Given the description of an element on the screen output the (x, y) to click on. 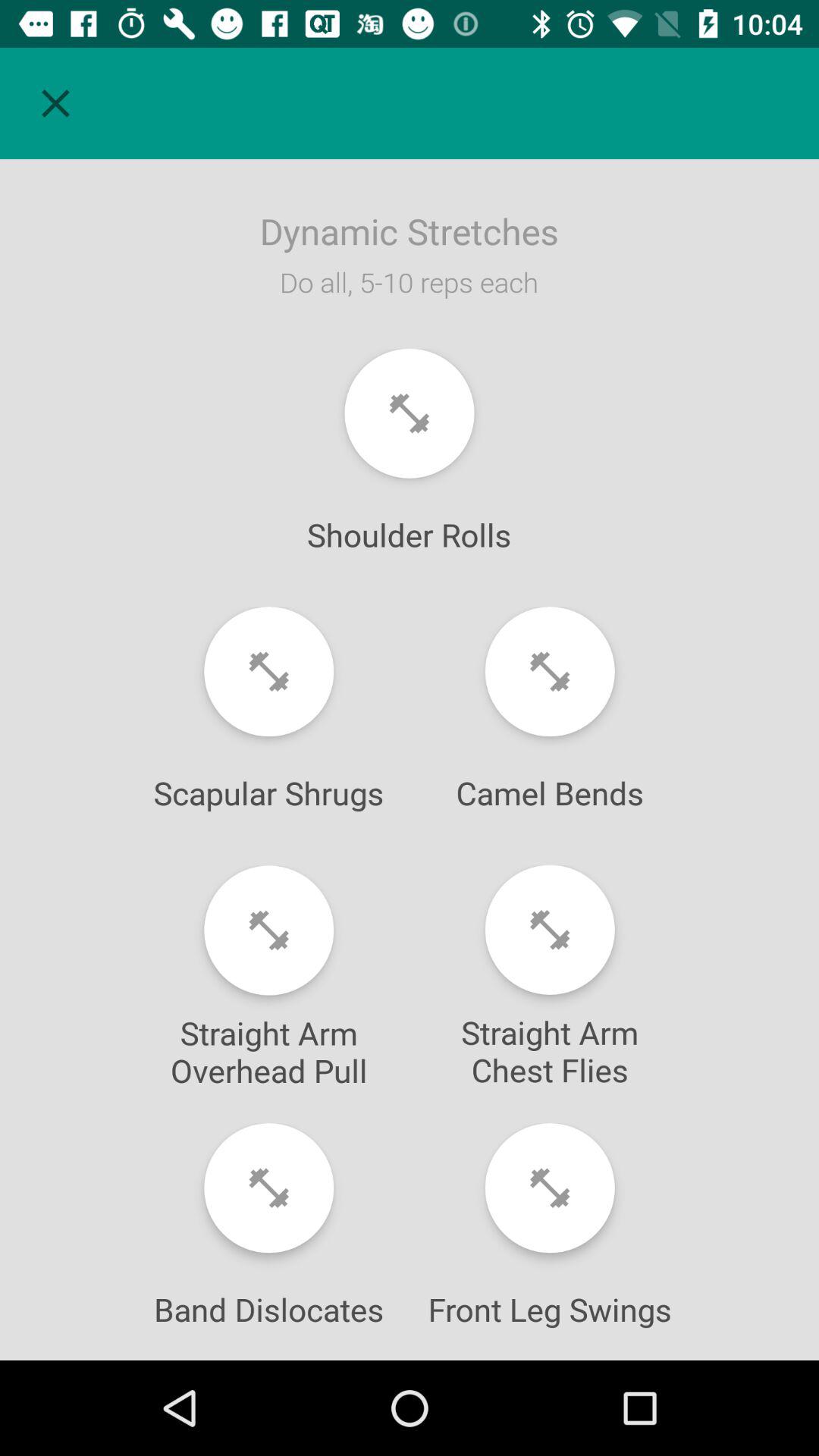
direction of swing (549, 1187)
